Given the description of an element on the screen output the (x, y) to click on. 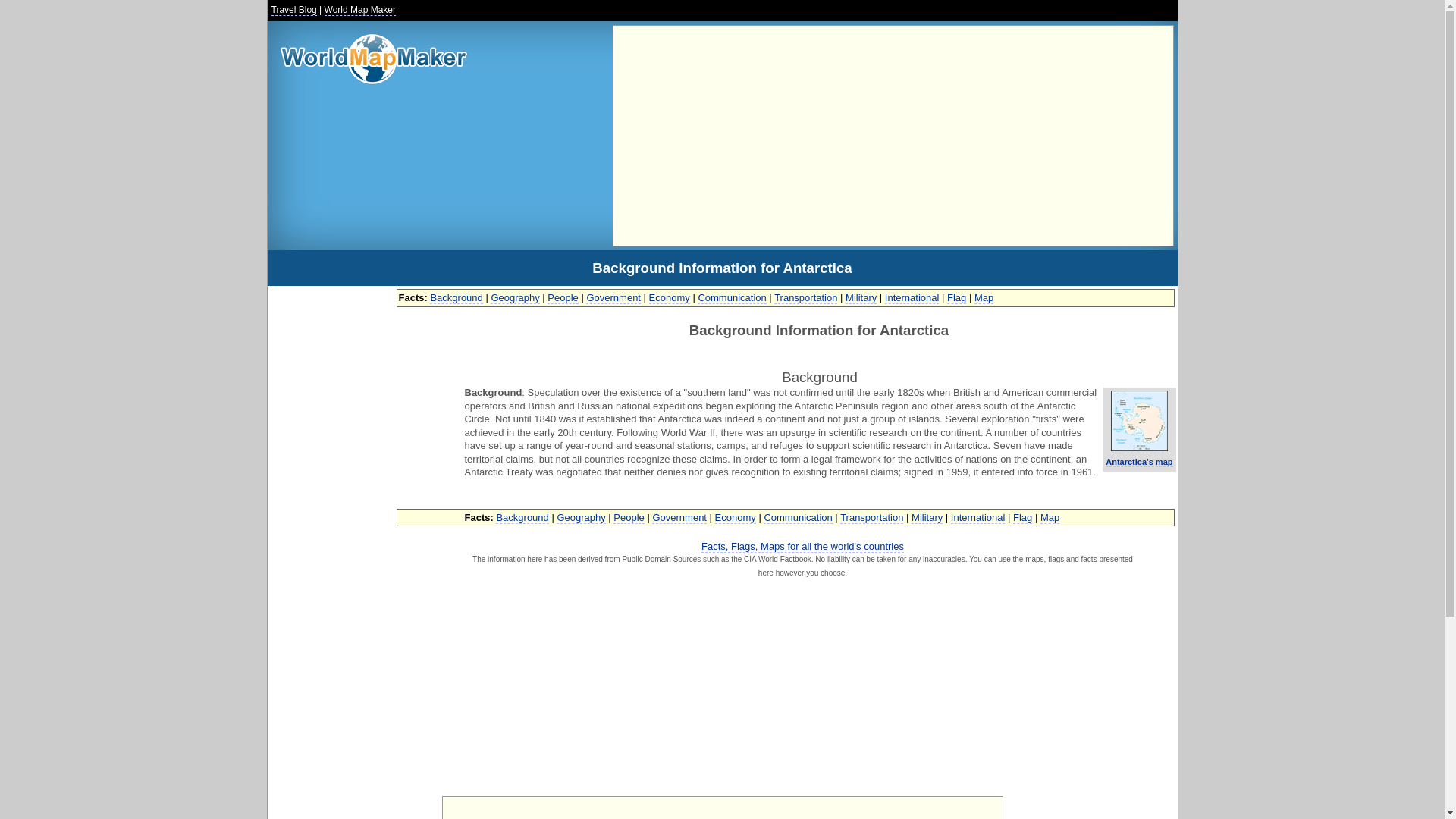
Flag (1022, 517)
Advertisement (721, 809)
Flag (956, 297)
Background (522, 517)
Military (926, 517)
Travel Blog (293, 9)
International (978, 517)
Transportation (871, 517)
Background (455, 297)
Geography (514, 297)
